Given the description of an element on the screen output the (x, y) to click on. 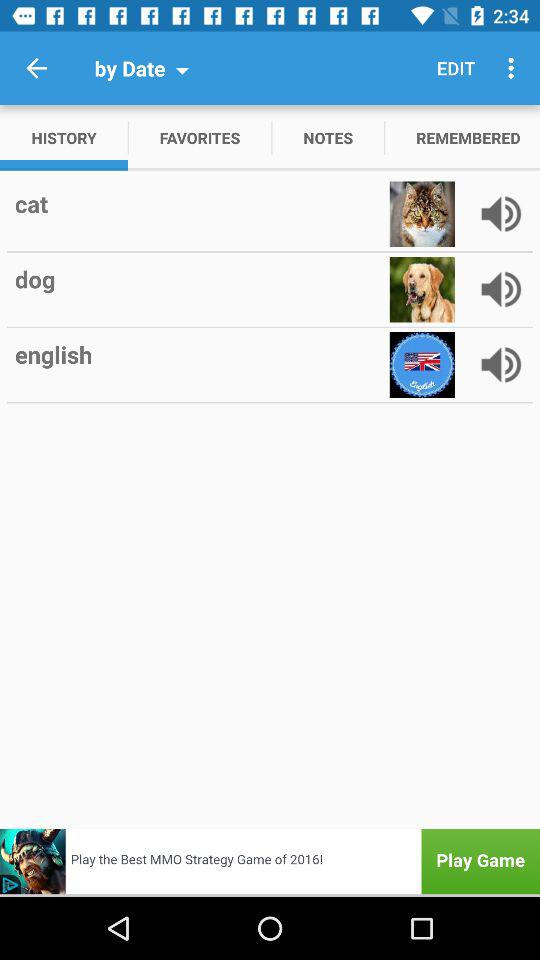
volume control/mute option (501, 213)
